Given the description of an element on the screen output the (x, y) to click on. 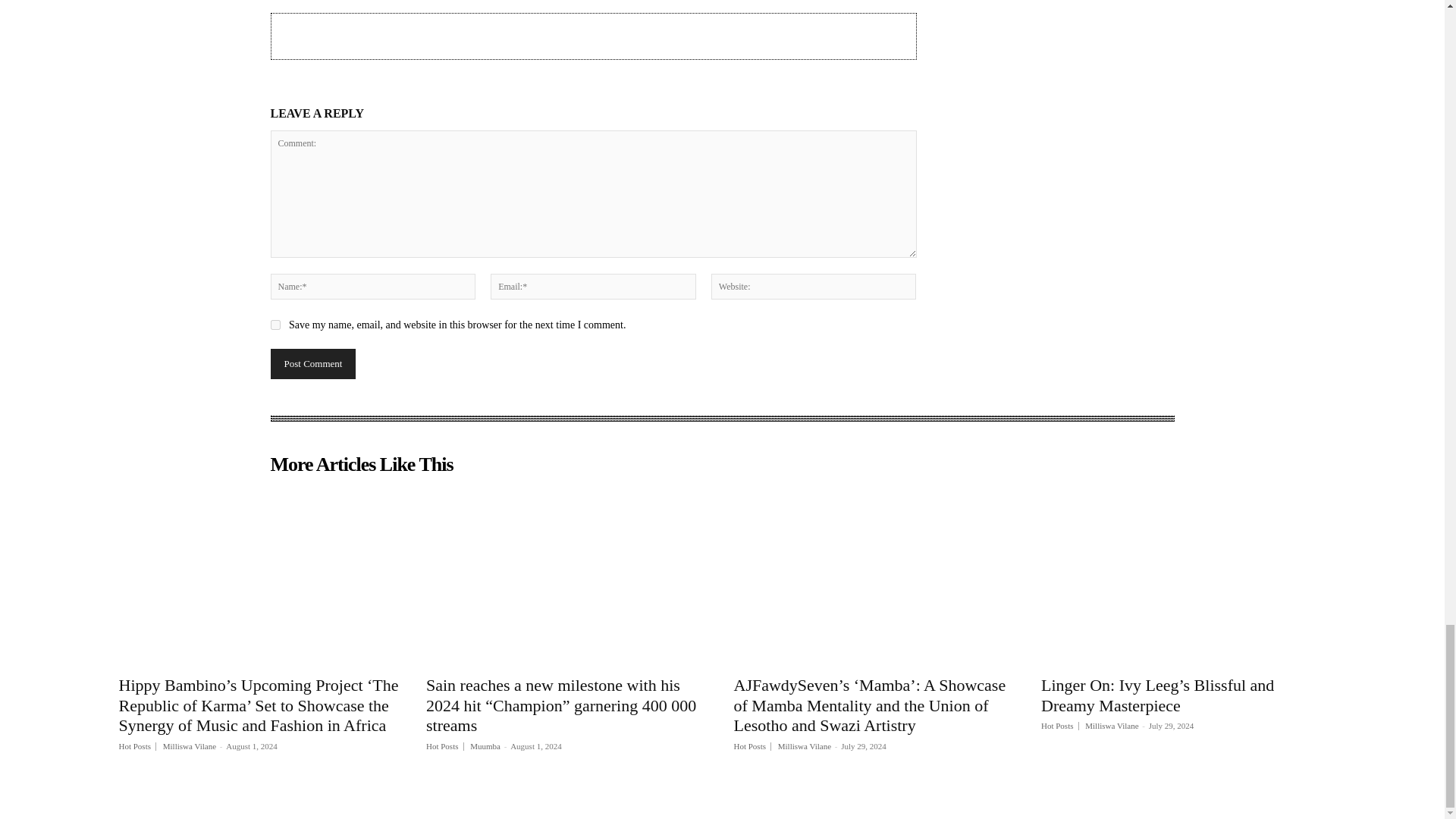
Post Comment (312, 363)
yes (274, 325)
